Given the description of an element on the screen output the (x, y) to click on. 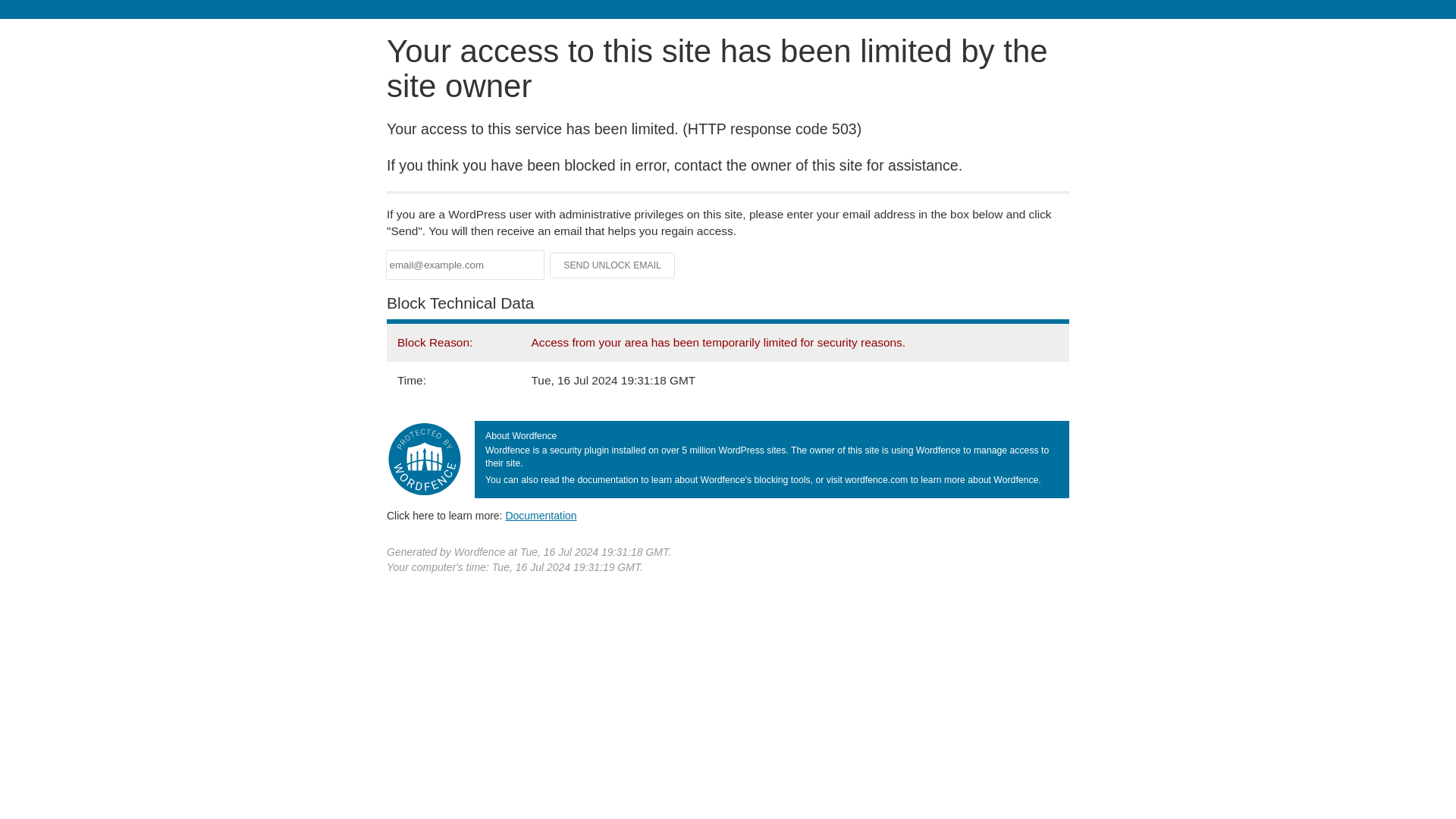
Documentation (540, 515)
Send Unlock Email (612, 265)
Send Unlock Email (612, 265)
